Given the description of an element on the screen output the (x, y) to click on. 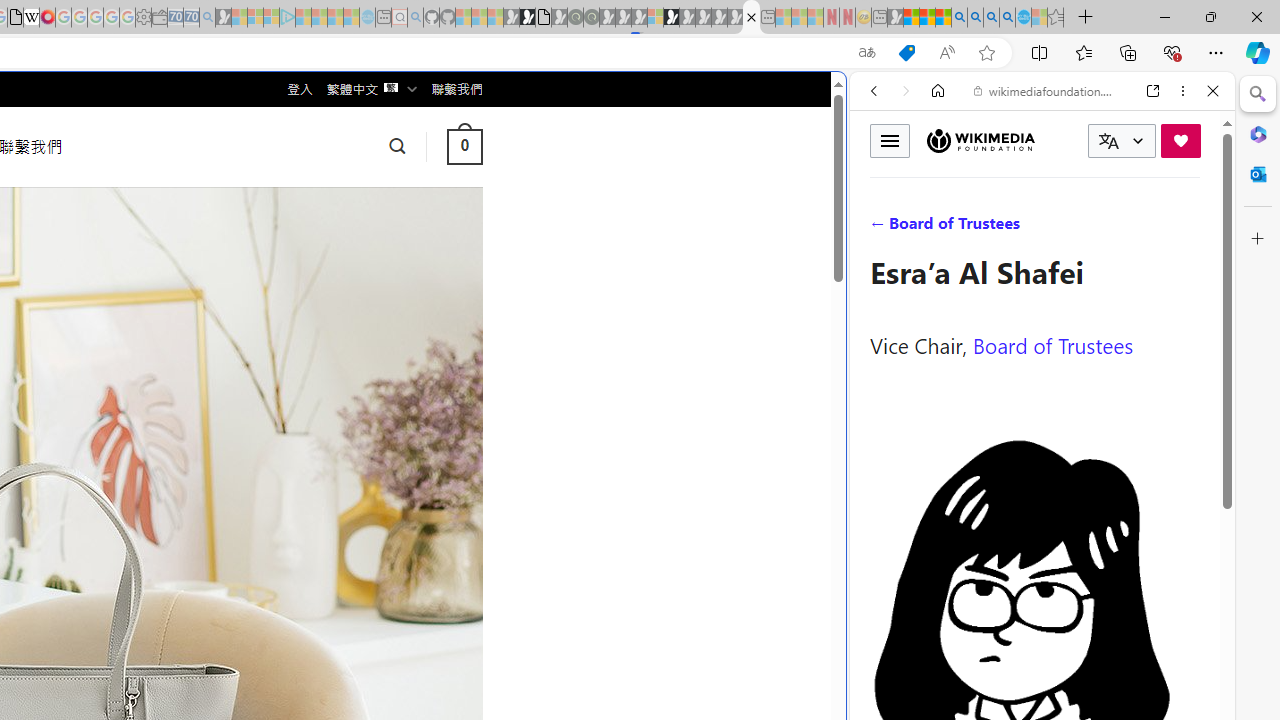
Read aloud this page (Ctrl+Shift+U) (946, 53)
Settings - Sleeping (143, 17)
Close (1213, 91)
Cheap Car Rentals - Save70.com - Sleeping (191, 17)
Search (1258, 94)
github - Search - Sleeping (415, 17)
Open link in new tab (1153, 91)
Class: i icon icon-translate language-switcher__icon (1108, 141)
Play Zoo Boom in your browser | Games from Microsoft Start (527, 17)
Wallet - Sleeping (159, 17)
This site scope (936, 180)
Microsoft 365 (1258, 133)
